Given the description of an element on the screen output the (x, y) to click on. 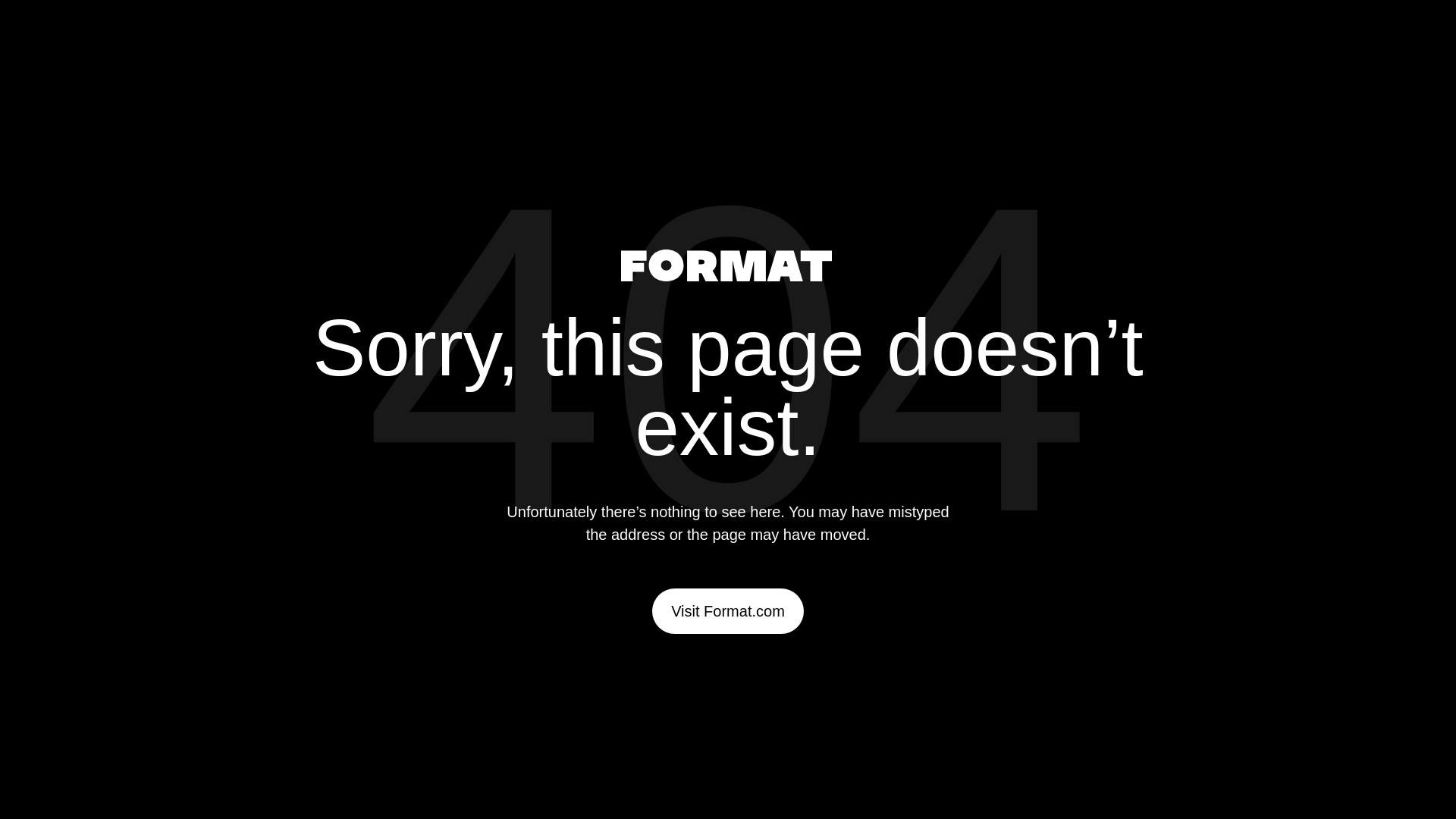
Visit Format.com Element type: text (727, 610)
